Given the description of an element on the screen output the (x, y) to click on. 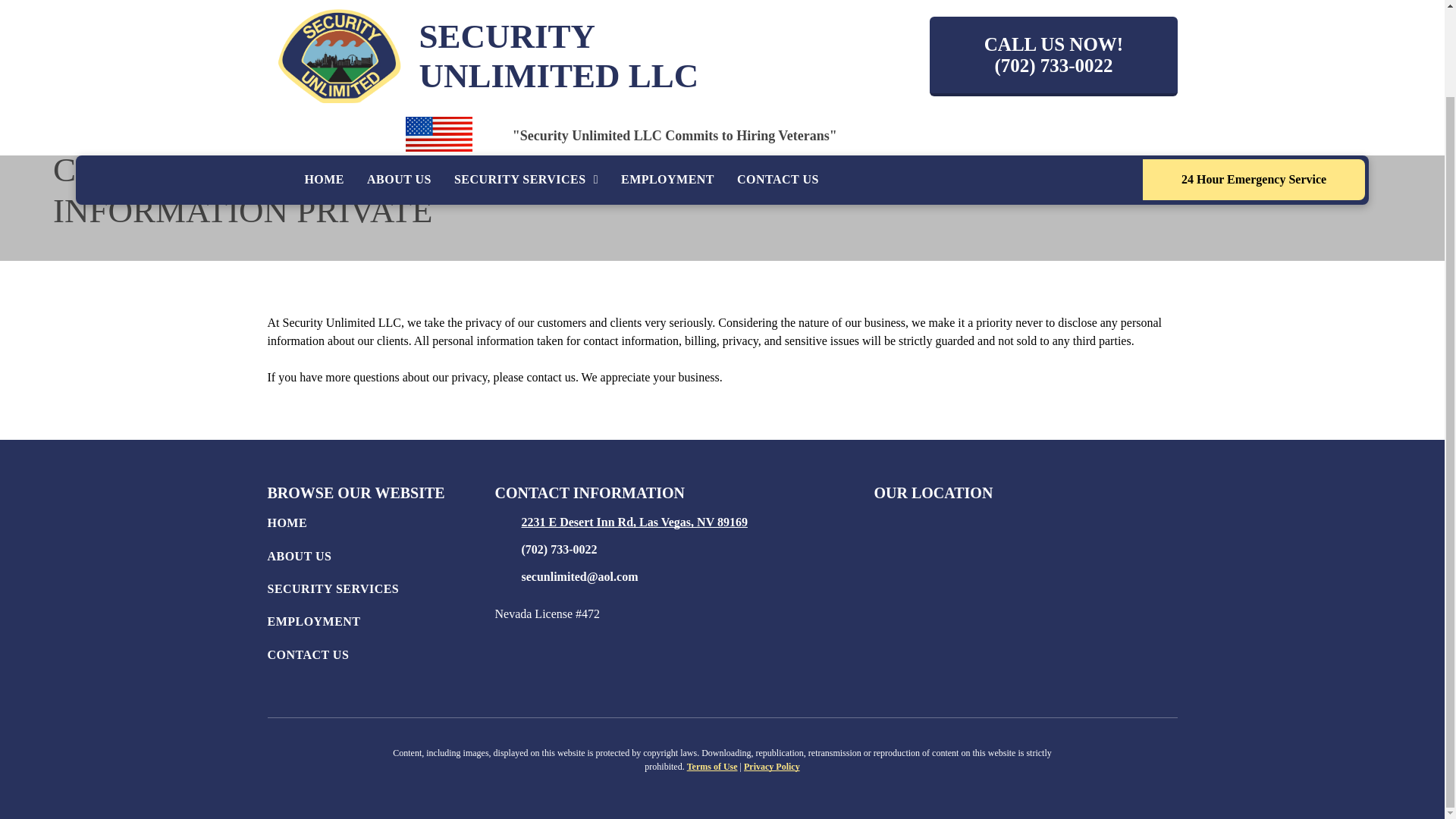
HOME (323, 81)
CONTACT US (380, 657)
ABOUT US (380, 558)
SECURITY SERVICES (526, 81)
SECURITY SERVICES (380, 592)
HOME (380, 526)
EMPLOYMENT (380, 625)
EMPLOYMENT (667, 81)
ABOUT US (398, 81)
CONTACT US (777, 81)
Security Unlimited (338, 2)
